Given the description of an element on the screen output the (x, y) to click on. 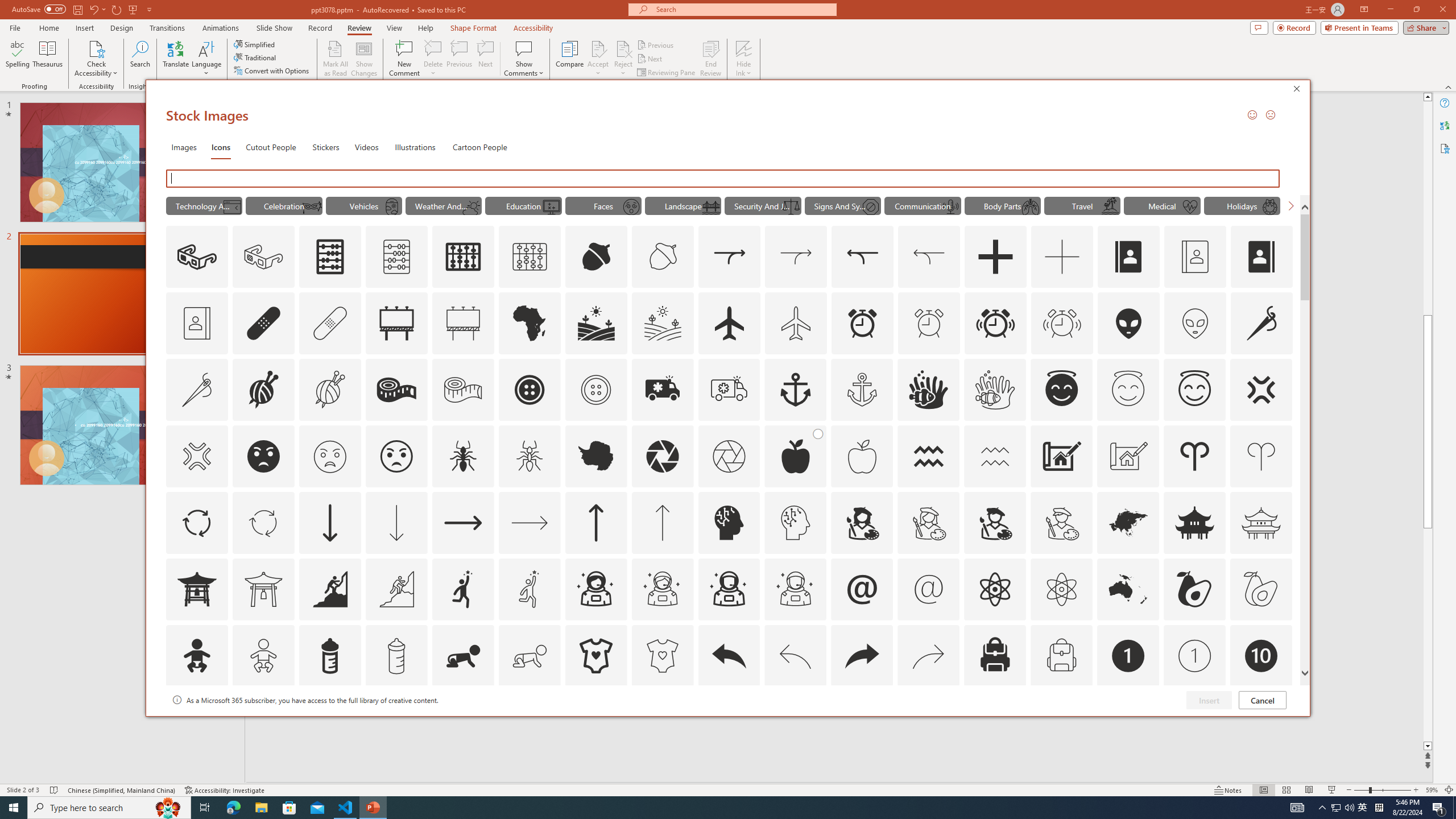
Reject (622, 58)
AutomationID: Icons_Agriculture (596, 323)
AutomationID: Icons_Aspiration_M (395, 588)
AutomationID: Icons_Backpack_M (1061, 655)
